Given the description of an element on the screen output the (x, y) to click on. 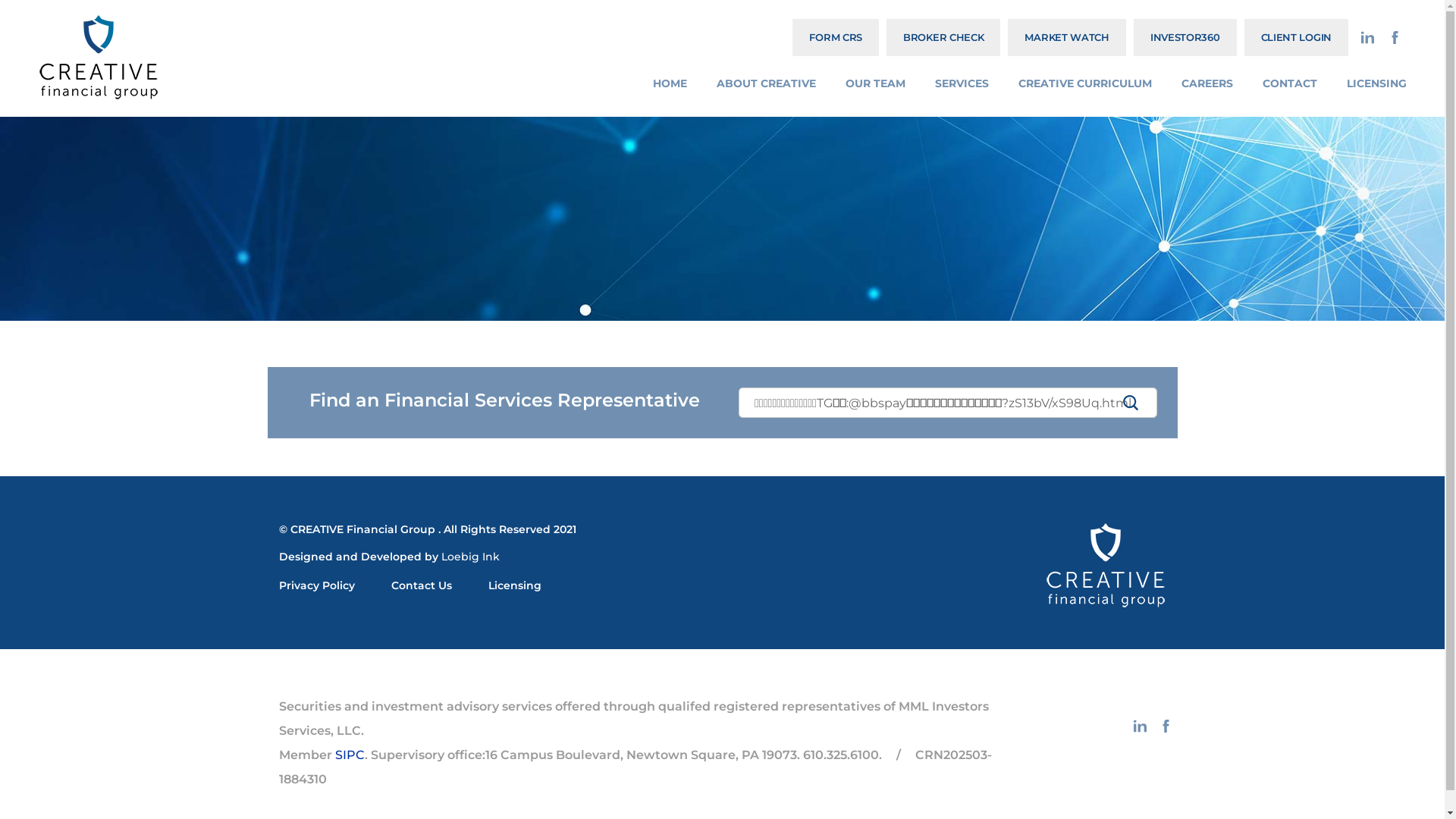
FORM CRS Element type: text (835, 37)
CAREERS Element type: text (1207, 83)
ABOUT CREATIVE Element type: text (765, 83)
INVESTOR360 Element type: text (1184, 37)
OUR TEAM Element type: text (875, 83)
HOME Element type: text (669, 83)
Search Element type: text (1129, 400)
CLIENT LOGIN Element type: text (1296, 37)
Loebig Ink Element type: text (470, 556)
LICENSING Element type: text (1376, 83)
SIPC Element type: text (349, 754)
SERVICES Element type: text (961, 83)
CREATIVE CURRICULUM Element type: text (1084, 83)
BROKER CHECK Element type: text (943, 37)
CONTACT Element type: text (1289, 83)
MARKET WATCH Element type: text (1066, 37)
Licensing Element type: text (514, 585)
Privacy Policy Element type: text (316, 585)
Contact Us Element type: text (421, 585)
